Given the description of an element on the screen output the (x, y) to click on. 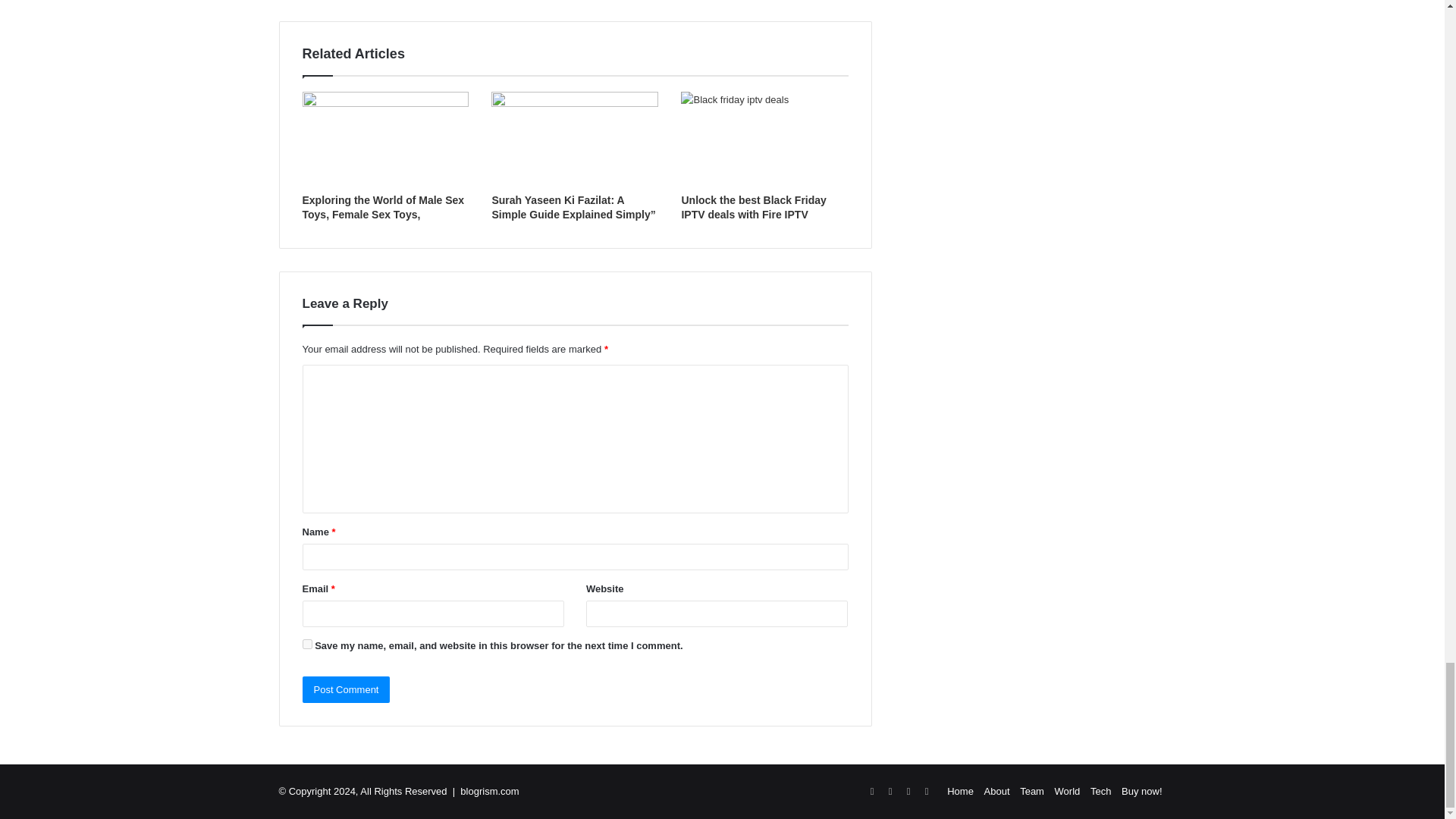
yes (306, 644)
Post Comment (345, 689)
